Given the description of an element on the screen output the (x, y) to click on. 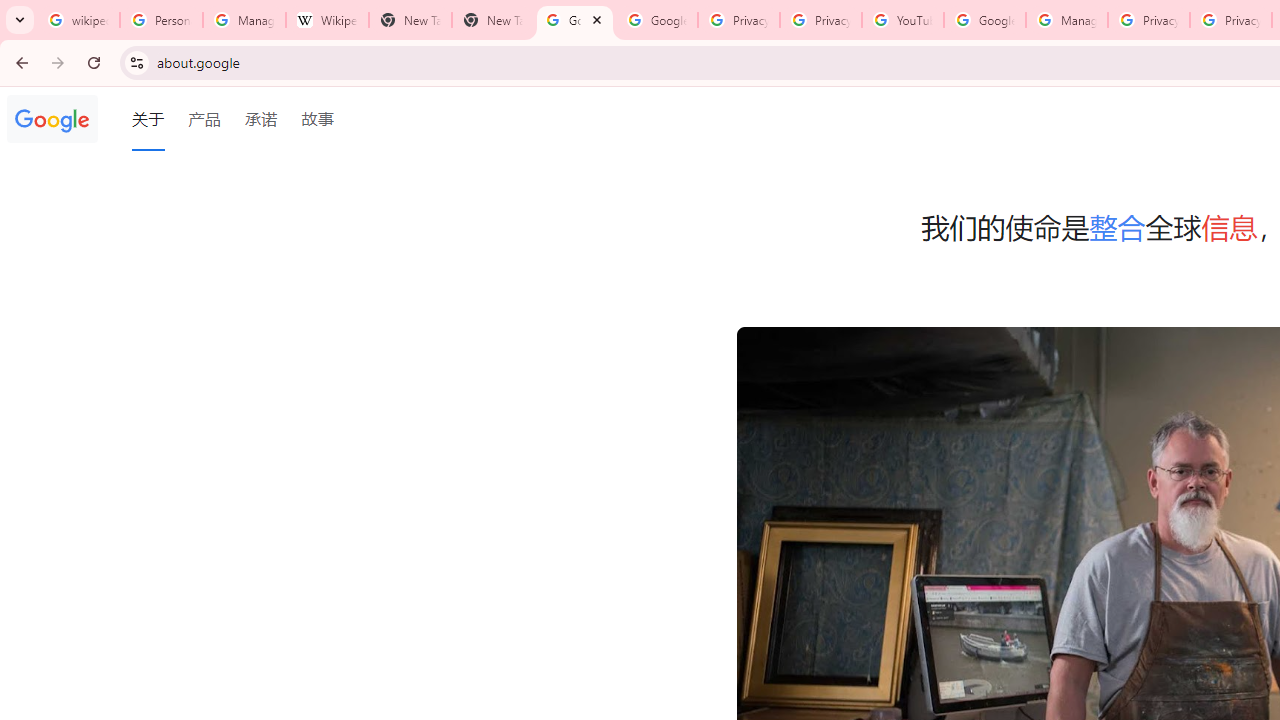
Google Drive: Sign-in (656, 20)
New Tab (492, 20)
